Given the description of an element on the screen output the (x, y) to click on. 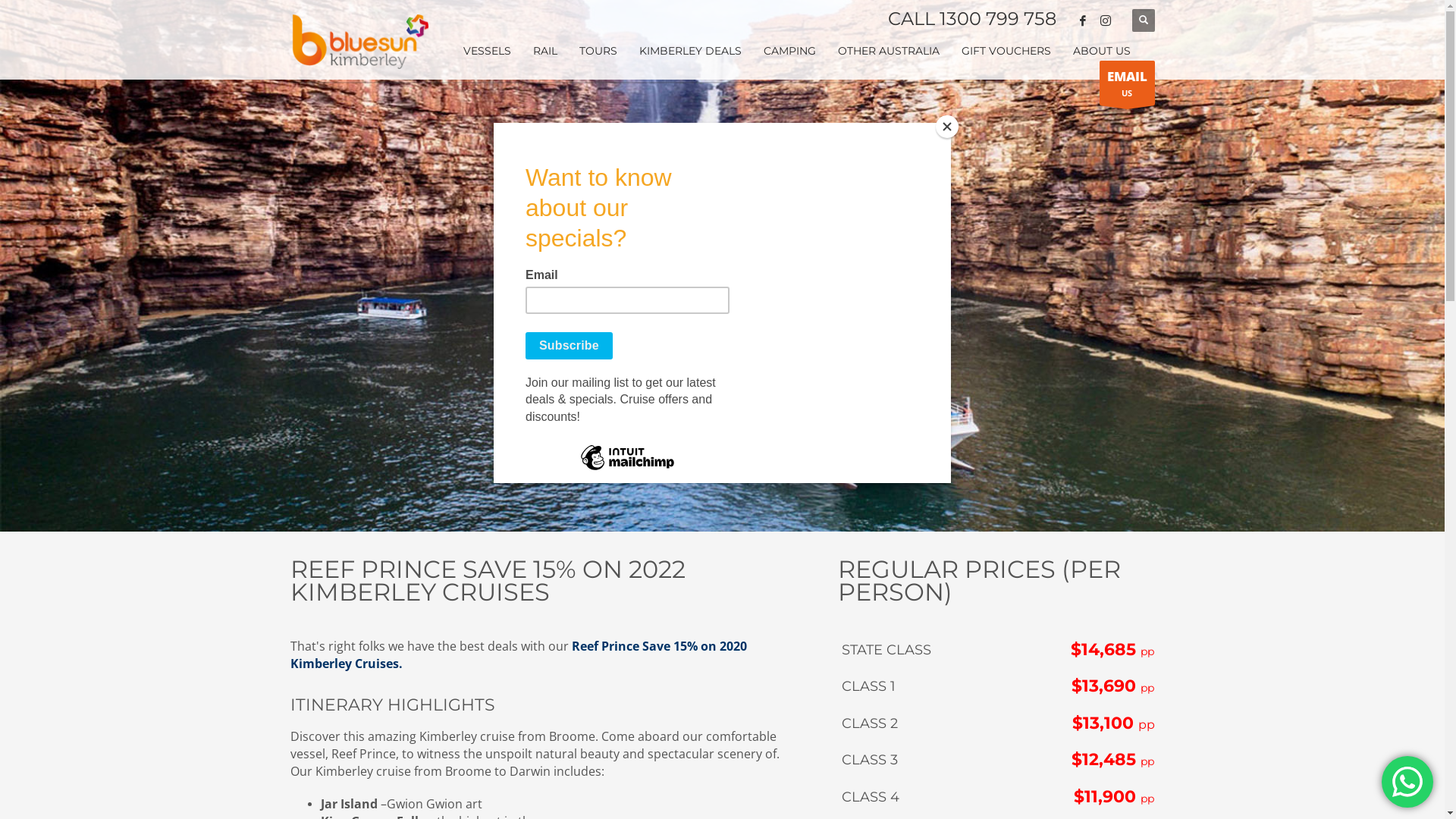
WhatsApp us Element type: hover (1407, 781)
VESSELS Element type: text (486, 50)
OTHER AUSTRALIA Element type: text (887, 50)
GIFT VOUCHERS Element type: text (1006, 50)
KIMBERLEY DEALS Element type: text (689, 50)
RAIL Element type: text (544, 50)
Facebook Element type: hover (1081, 20)
TOURS Element type: text (598, 50)
ABOUT US Element type: text (1101, 50)
Instagram Element type: hover (1104, 20)
EMAIL
US Element type: text (1126, 82)
CAMPING Element type: text (788, 50)
Kimberley Boat Cruises Element type: hover (358, 39)
